Given the description of an element on the screen output the (x, y) to click on. 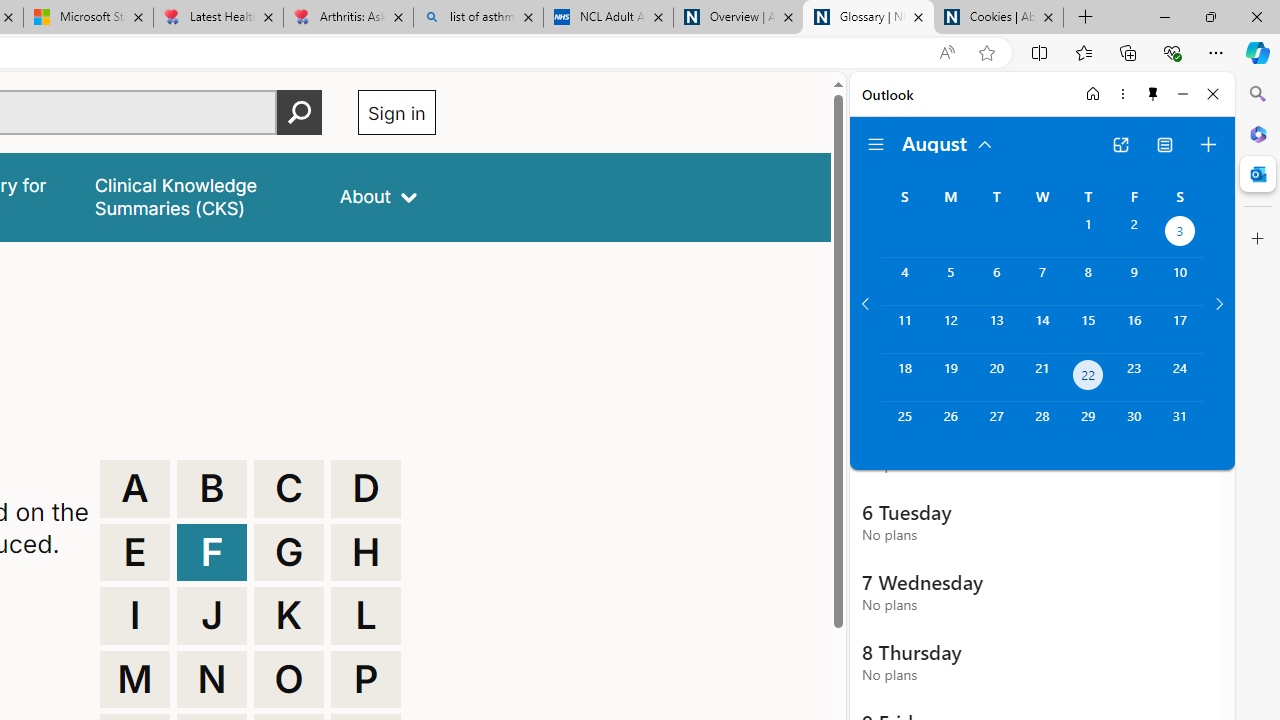
O (289, 679)
F (212, 551)
Sunday, August 18, 2024.  (904, 377)
Saturday, August 3, 2024. Date selected.  (1180, 233)
Create event (1208, 144)
Open in new tab (1120, 144)
I (134, 615)
O (289, 679)
Friday, August 2, 2024.  (1134, 233)
Saturday, August 17, 2024.  (1180, 329)
M (134, 679)
Tuesday, August 13, 2024.  (996, 329)
